Given the description of an element on the screen output the (x, y) to click on. 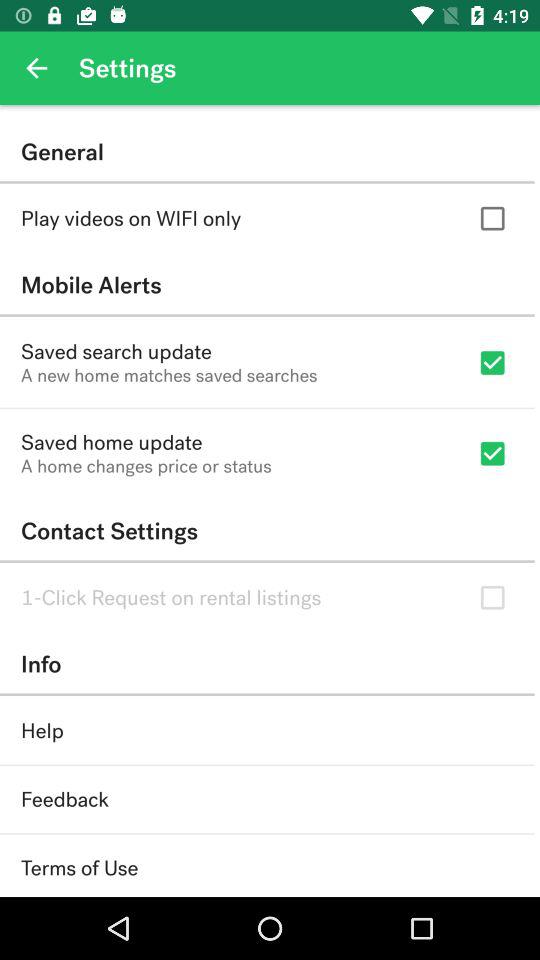
choose the item next to settings icon (36, 68)
